Given the description of an element on the screen output the (x, y) to click on. 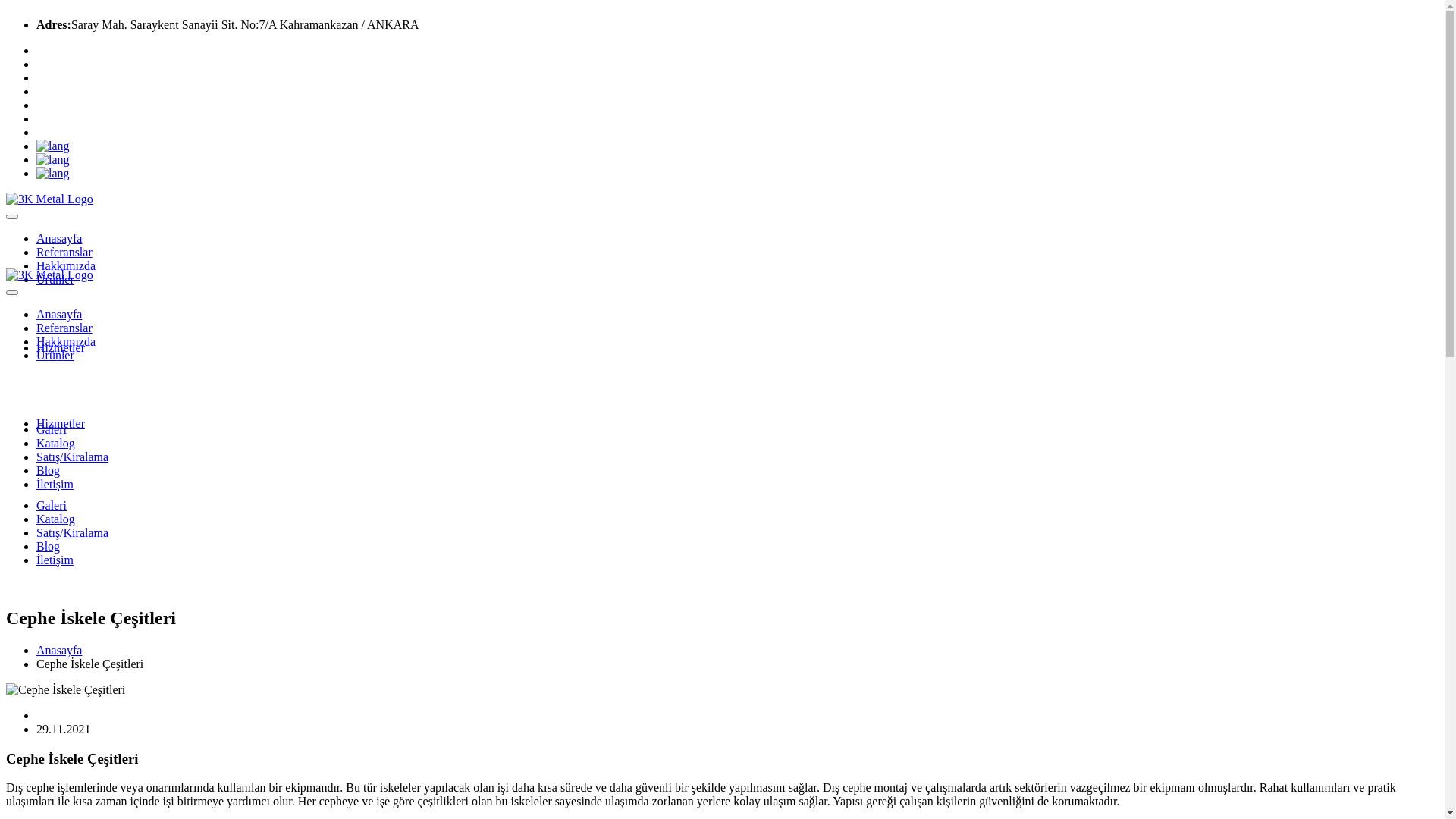
Referanslar Element type: text (64, 327)
Galeri Element type: text (51, 504)
3K MEtal Element type: hover (49, 275)
Hizmetler Element type: text (60, 347)
Blog Element type: text (47, 545)
Katalog Element type: text (55, 518)
Katalog Element type: text (55, 442)
Anasayfa Element type: text (58, 238)
Anasayfa Element type: text (58, 649)
Referanslar Element type: text (64, 251)
Galeri Element type: text (51, 429)
Anasayfa Element type: text (58, 313)
Blog Element type: text (47, 470)
Hizmetler Element type: text (60, 423)
